Given the description of an element on the screen output the (x, y) to click on. 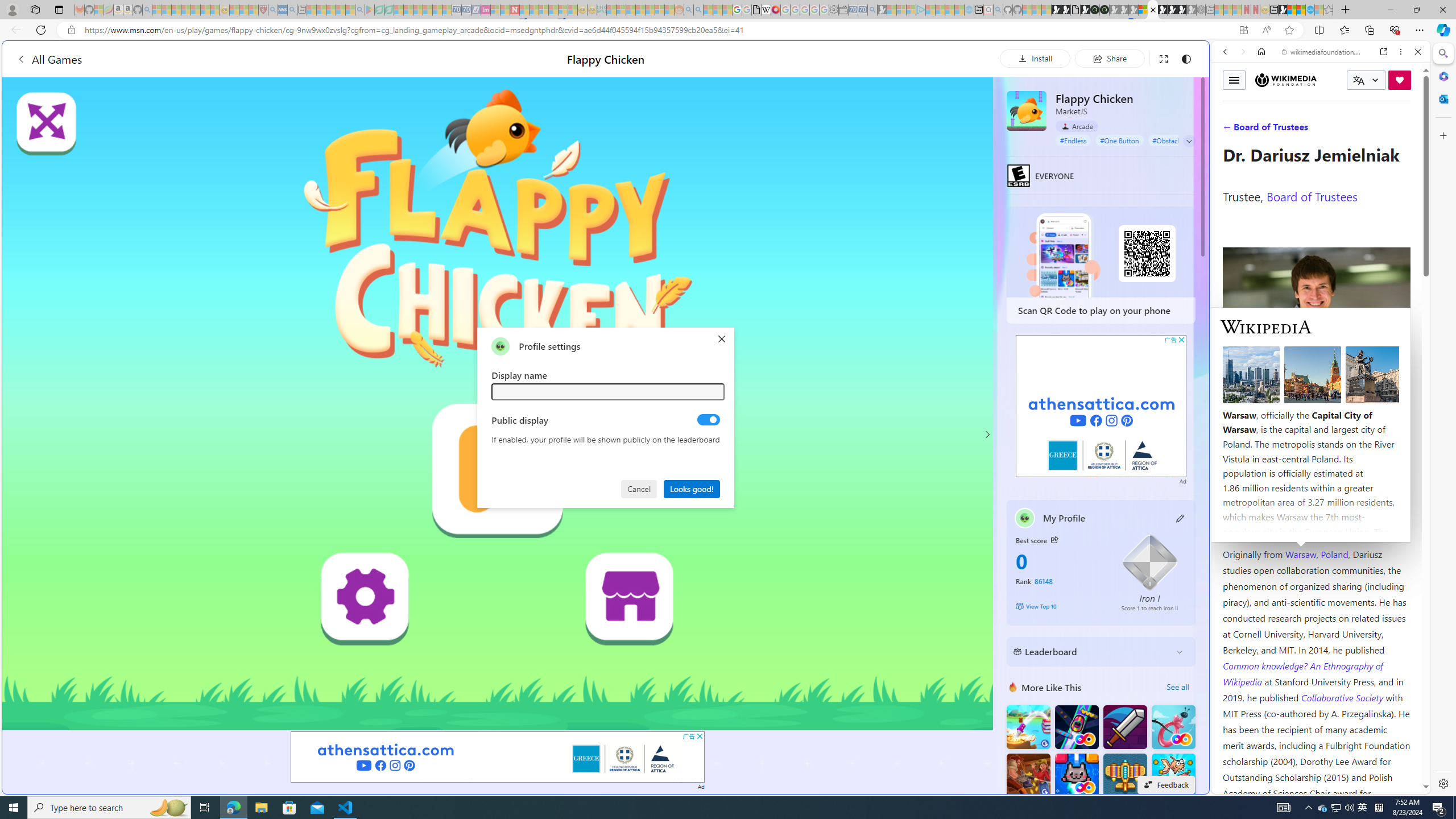
Full screen (1163, 58)
Close split screen (1208, 57)
Future Focus Report 2024 (1103, 9)
World - MSN (1291, 9)
